Given the description of an element on the screen output the (x, y) to click on. 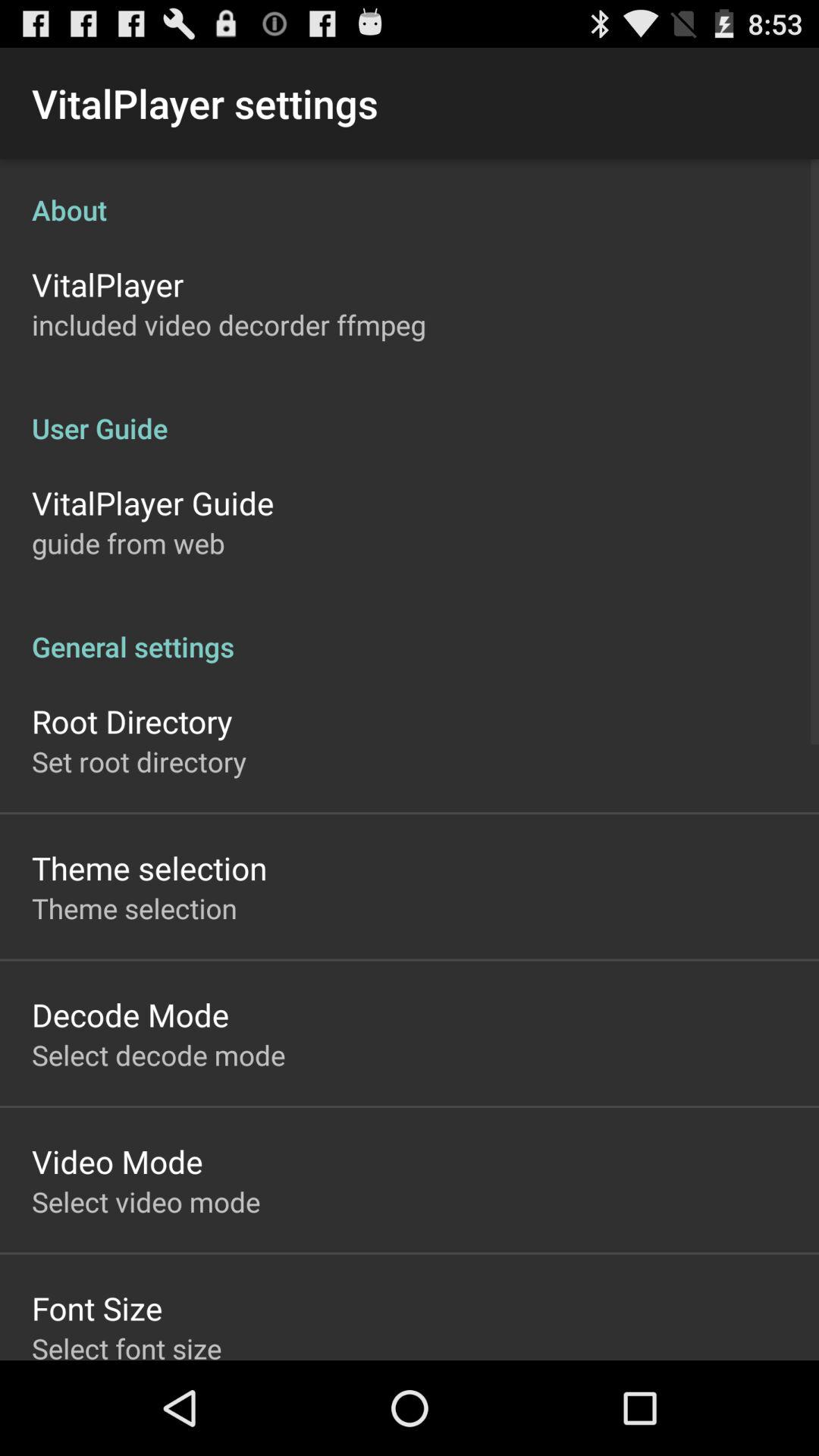
scroll to the included video decorder icon (228, 324)
